Given the description of an element on the screen output the (x, y) to click on. 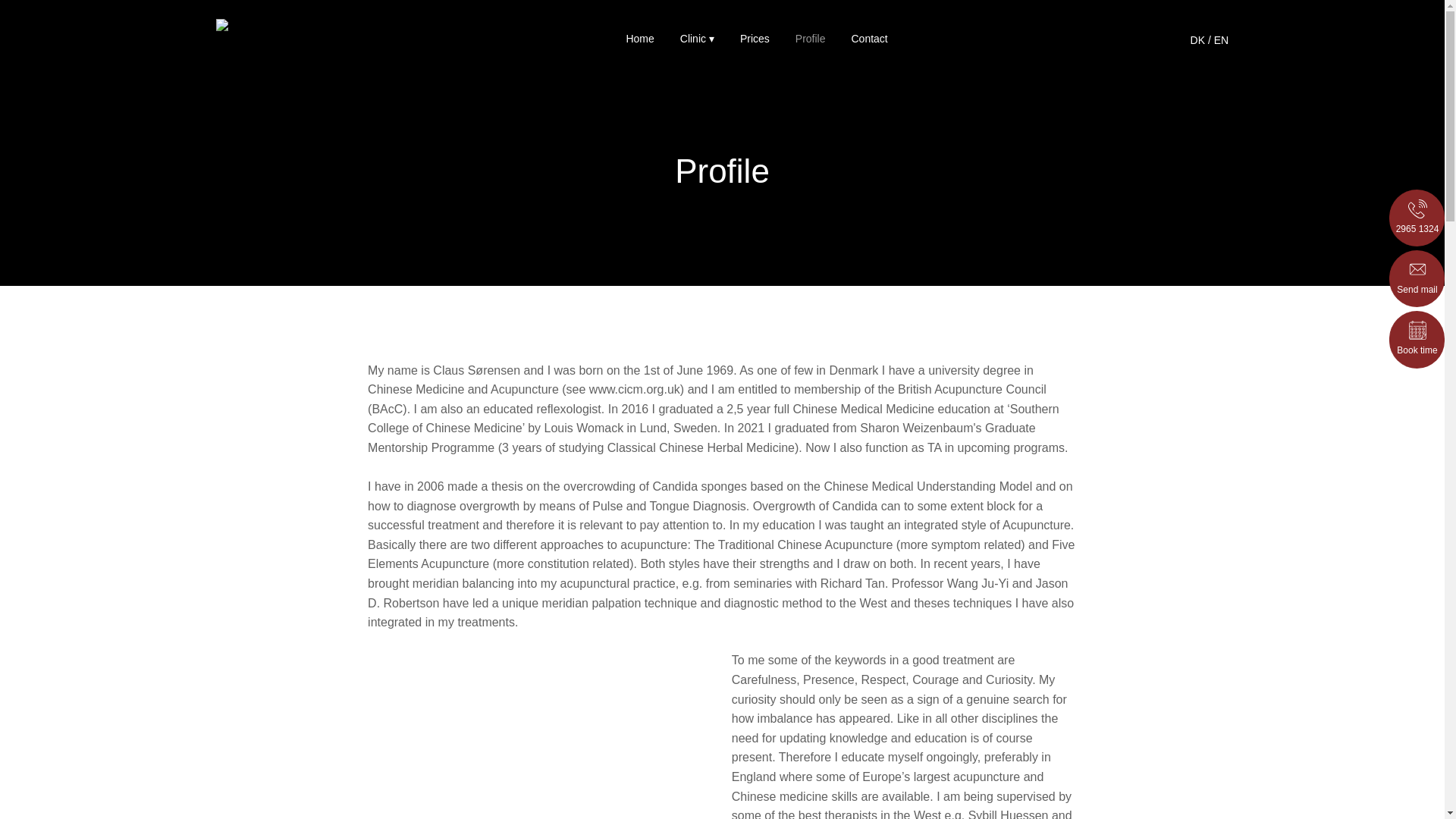
Home (639, 38)
Prices (754, 38)
Til forsiden (306, 25)
DK (1198, 39)
Dansk (1198, 39)
English (1221, 39)
Contact (868, 38)
EN (1221, 39)
Profile (809, 38)
